Given the description of an element on the screen output the (x, y) to click on. 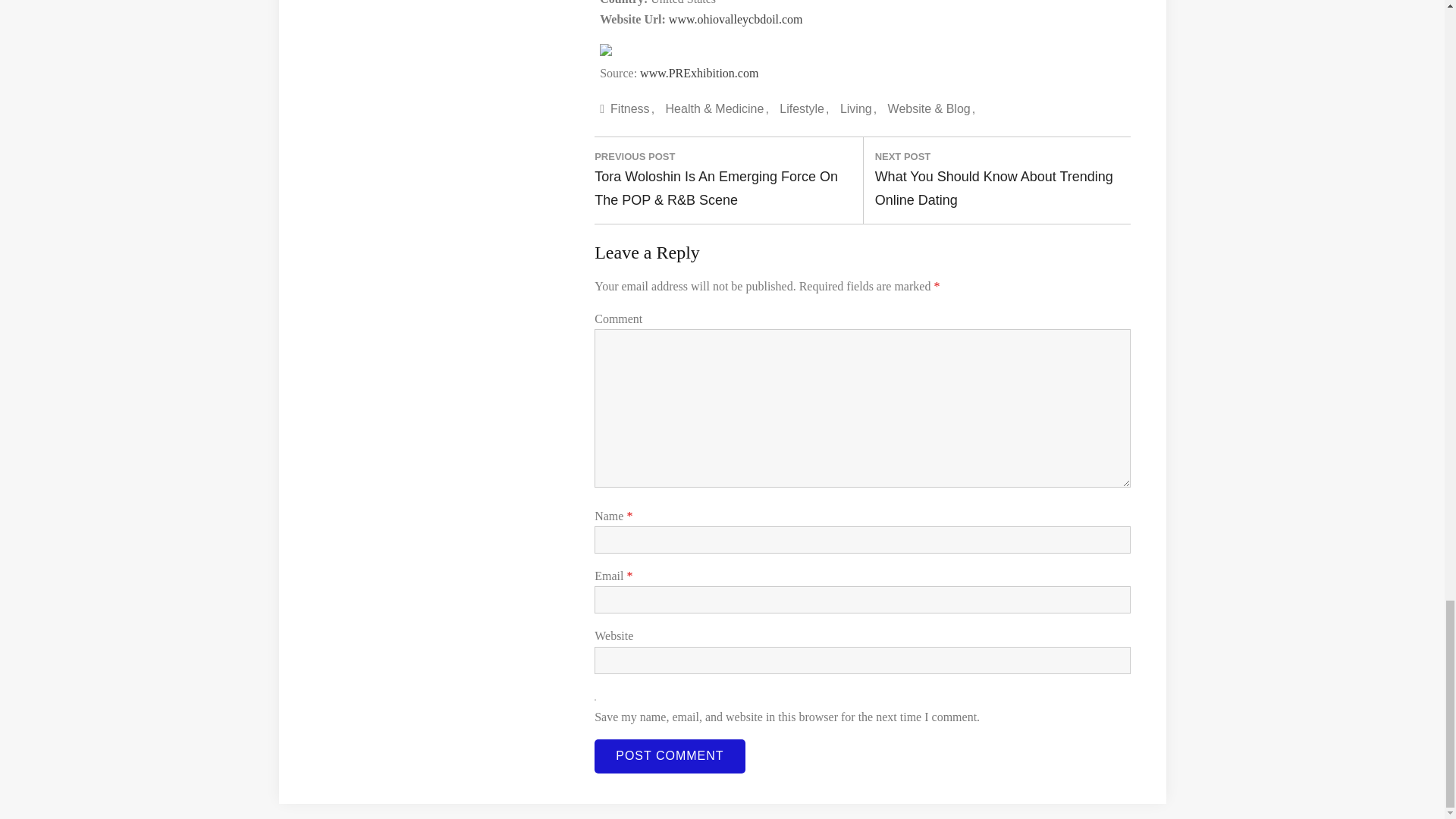
www.ohiovalleycbdoil.com (735, 19)
www.PRExhibition.com (699, 72)
Post Comment (669, 756)
Living (858, 108)
Post Comment (669, 756)
Lifestyle (803, 108)
Fitness (632, 108)
